Given the description of an element on the screen output the (x, y) to click on. 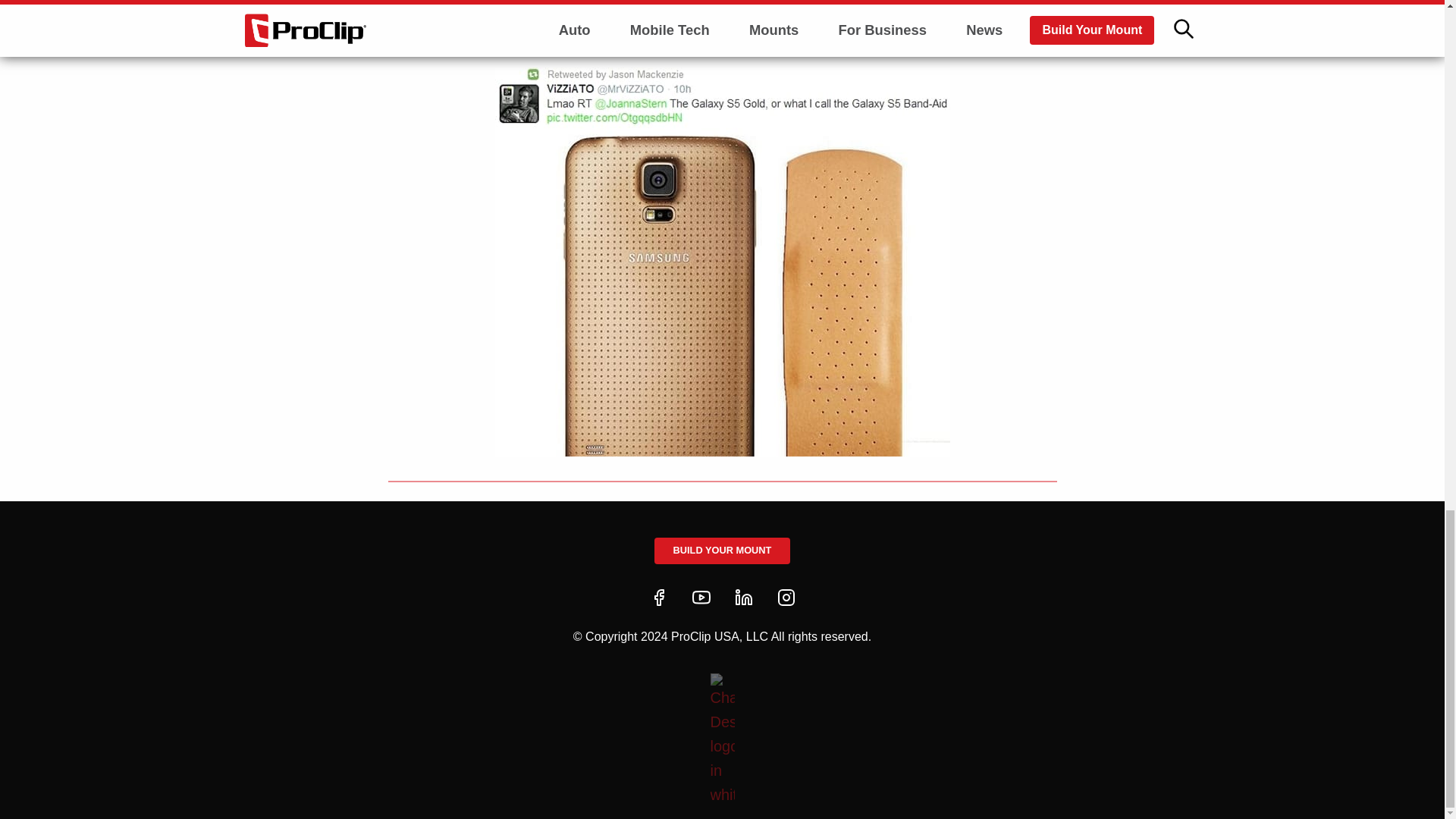
ProClip Is Attending CES in January! (548, 745)
iOS 8 Continuity Feature Promises to Integrate iOS and OS X (896, 612)
Microsoft Cortana Available Soon for Android (548, 612)
Motorola ET1 Tablet Holders (896, 745)
